Given the description of an element on the screen output the (x, y) to click on. 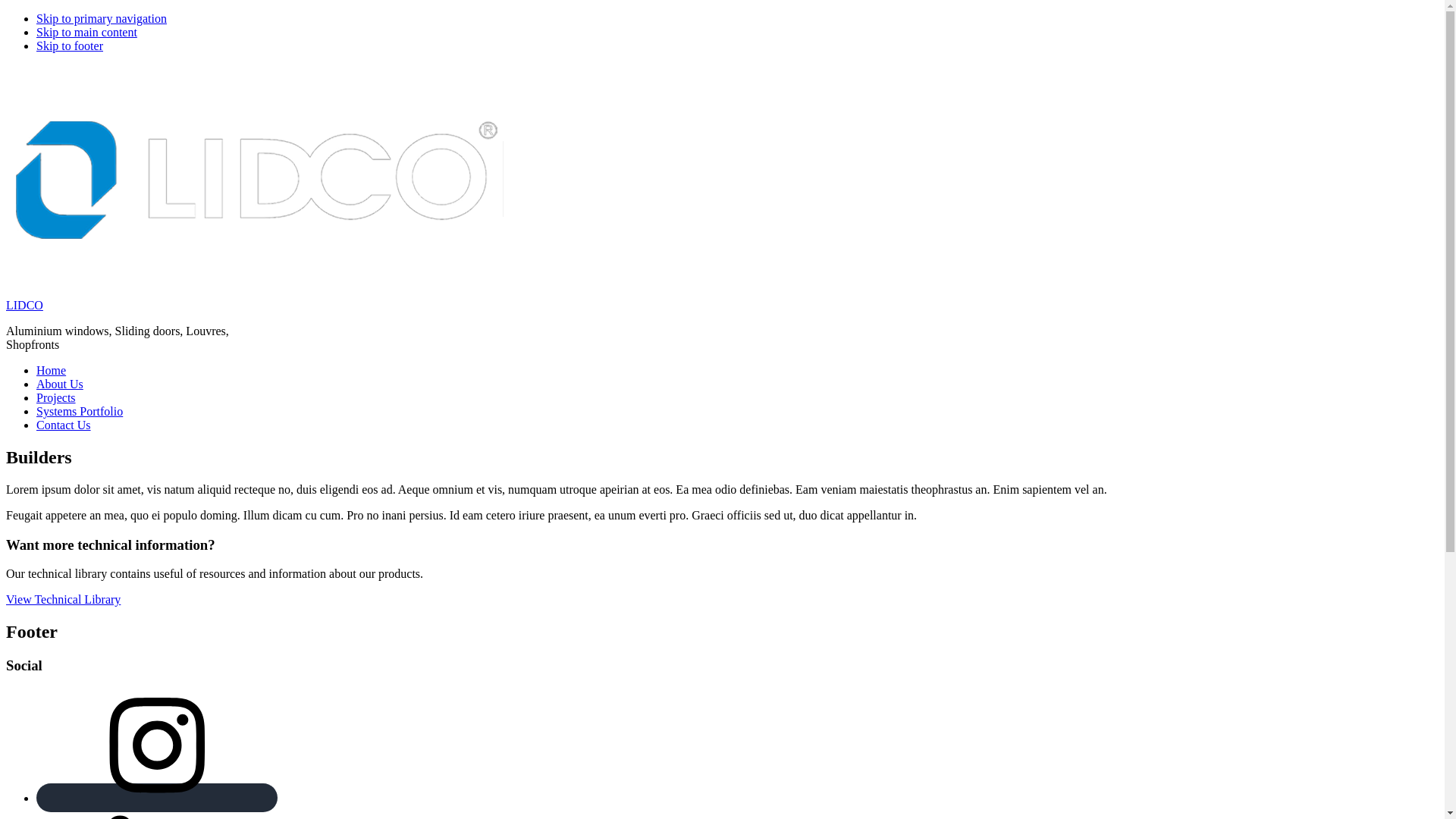
Skip to footer Element type: text (69, 45)
View Technical Library Element type: text (63, 599)
Instagram Element type: text (156, 797)
Skip to main content Element type: text (86, 31)
Skip to primary navigation Element type: text (101, 18)
Home Element type: text (50, 370)
LIDCO Element type: text (24, 304)
About Us Element type: text (59, 383)
Systems Portfolio Element type: text (79, 410)
Contact Us Element type: text (63, 424)
Projects Element type: text (55, 397)
